Given the description of an element on the screen output the (x, y) to click on. 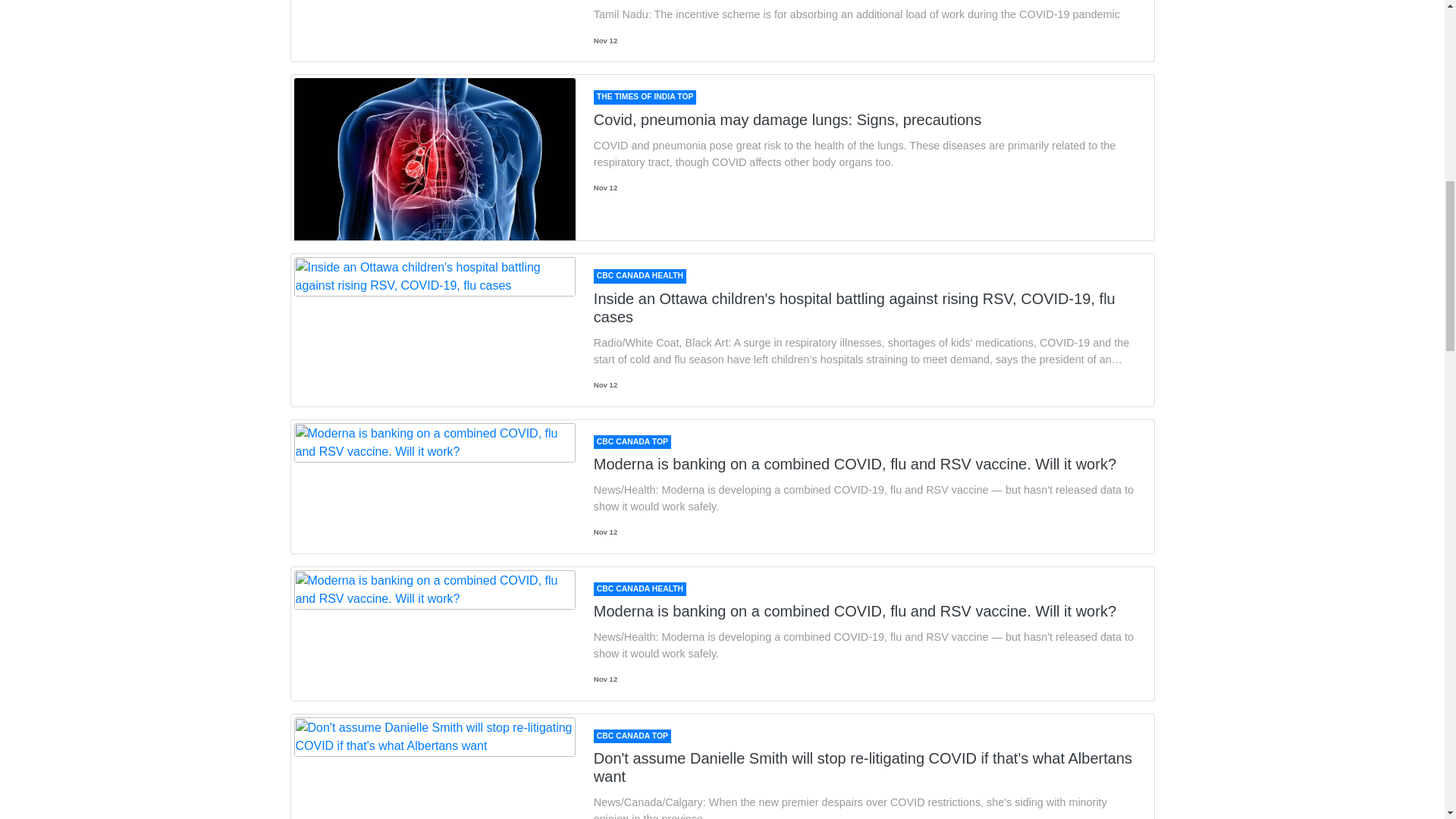
CBC CANADA HEALTH (639, 275)
THE TIMES OF INDIA TOP (645, 97)
CBC CANADA TOP (632, 441)
